Given the description of an element on the screen output the (x, y) to click on. 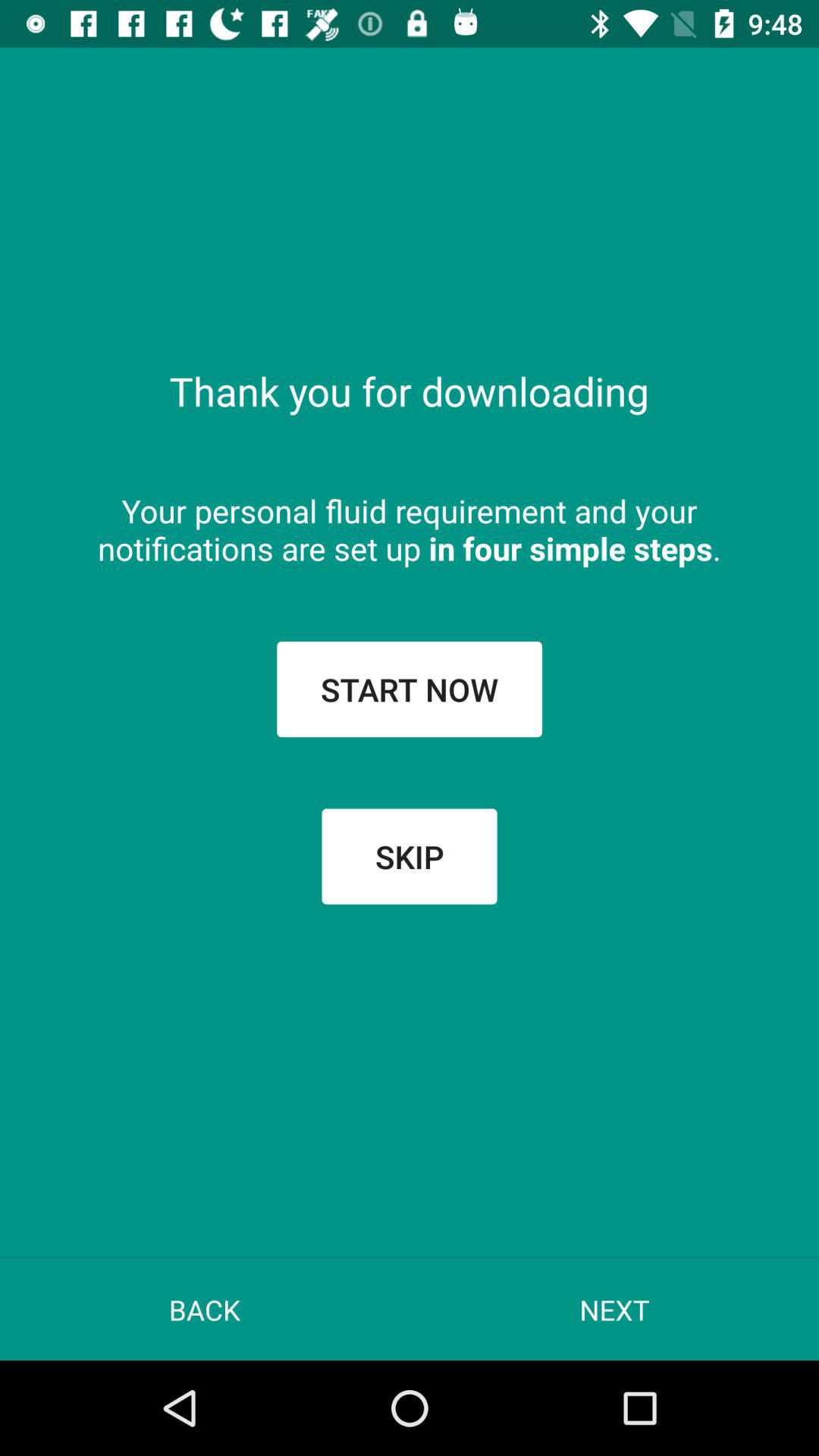
swipe to back icon (204, 1309)
